Given the description of an element on the screen output the (x, y) to click on. 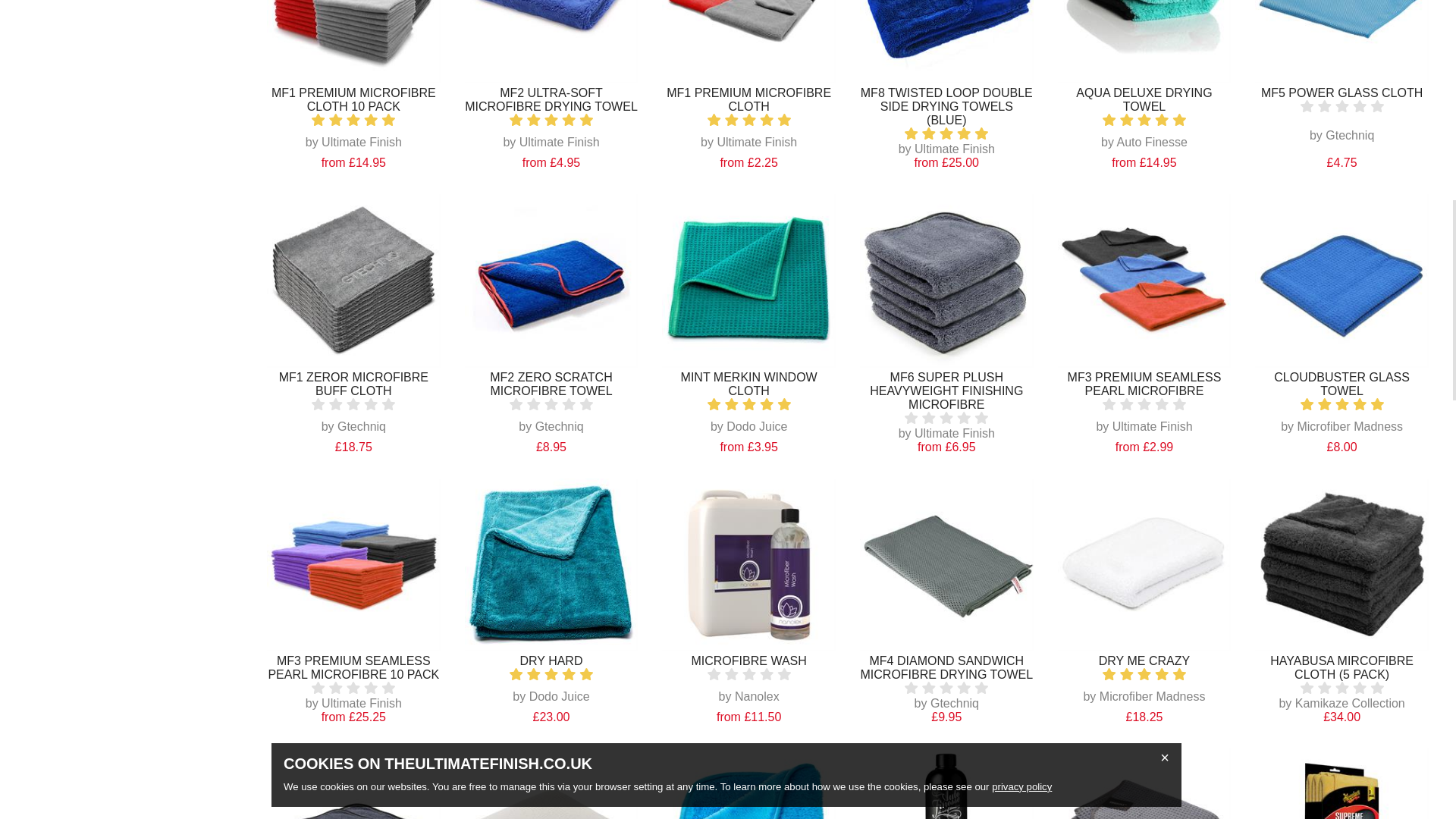
Auto Finesse Aqua Deluxe Drying Towel (1144, 41)
